Given the description of an element on the screen output the (x, y) to click on. 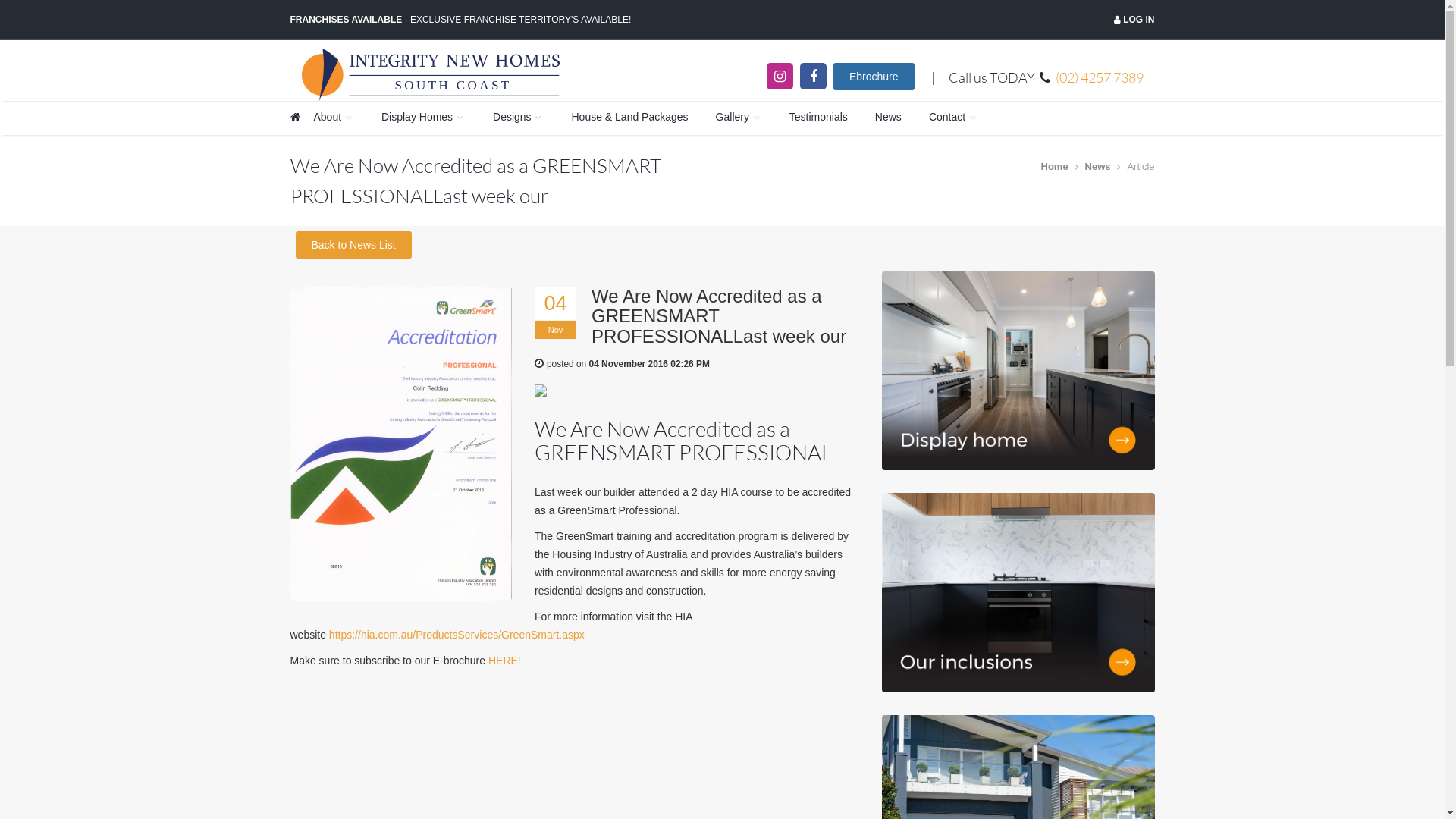
Join us on Facebook Element type: hover (813, 75)
LOG IN Element type: text (1137, 19)
04
Nov Element type: text (555, 312)
https://hia.com.au/ProductsServices/GreenSmart.aspx Element type: text (456, 634)
Ebrochure Element type: text (873, 76)
Contact Element type: text (953, 117)
About Element type: text (333, 117)
Back to News List Element type: text (353, 244)
House & Land Packages Element type: text (629, 117)
News Element type: text (1097, 166)
Home Element type: text (1053, 166)
Designs Element type: text (518, 117)
News Element type: text (888, 117)
Join us on Instagram Element type: hover (779, 75)
Display Homes Element type: text (423, 117)
HERE! Element type: text (504, 660)
Gallery Element type: text (738, 117)
Testimonials Element type: text (818, 117)
(02) 4257 7389 Element type: text (1099, 77)
FRANCHISES AVAILABLE Element type: text (345, 19)
